Given the description of an element on the screen output the (x, y) to click on. 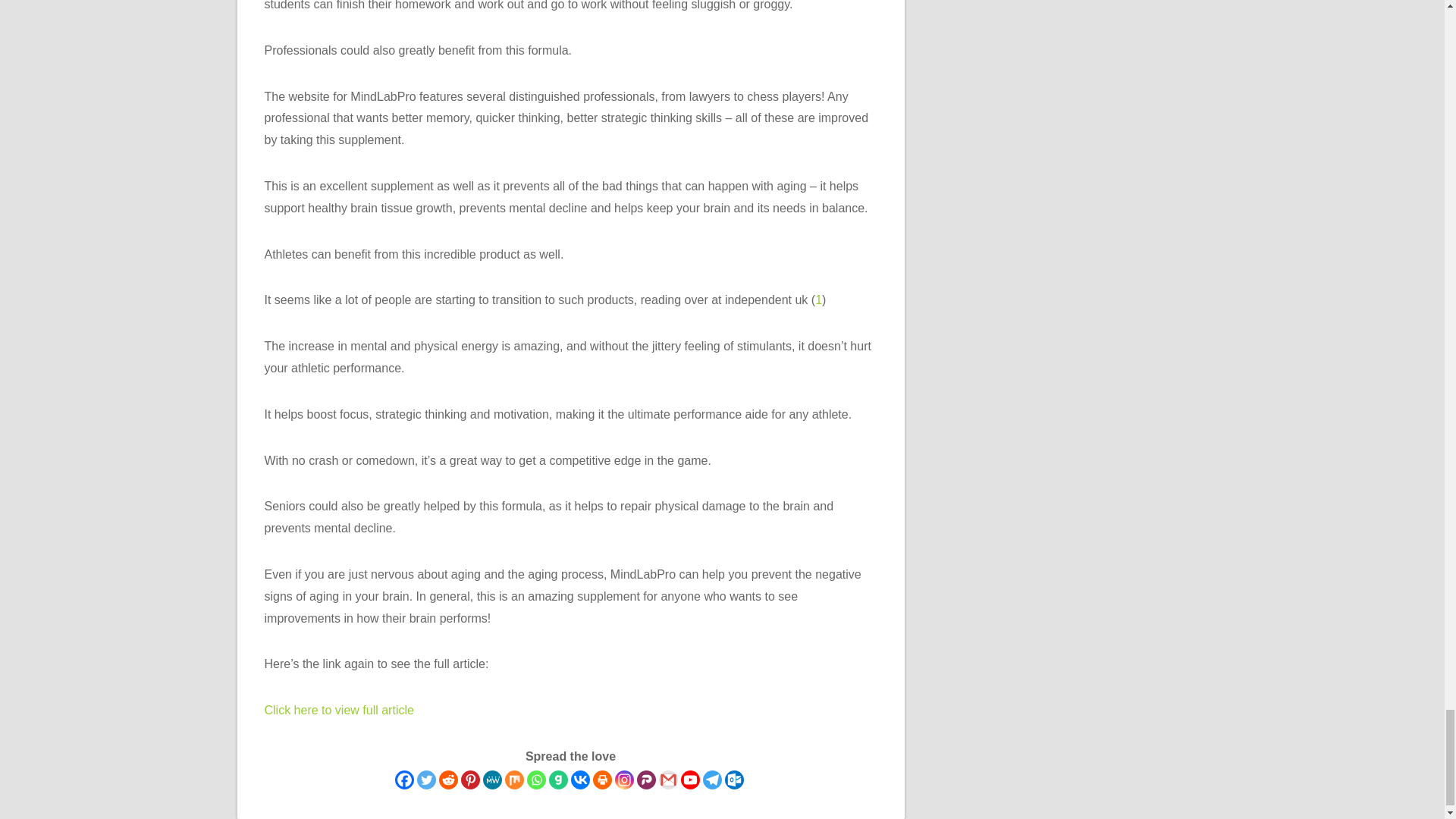
Twitter (425, 779)
Facebook (403, 779)
Mix (514, 779)
Instagram (623, 779)
Pinterest (470, 779)
Reddit (447, 779)
Whatsapp (534, 779)
MeWe (490, 779)
Parler (646, 779)
Click here to view full article (338, 709)
